Given the description of an element on the screen output the (x, y) to click on. 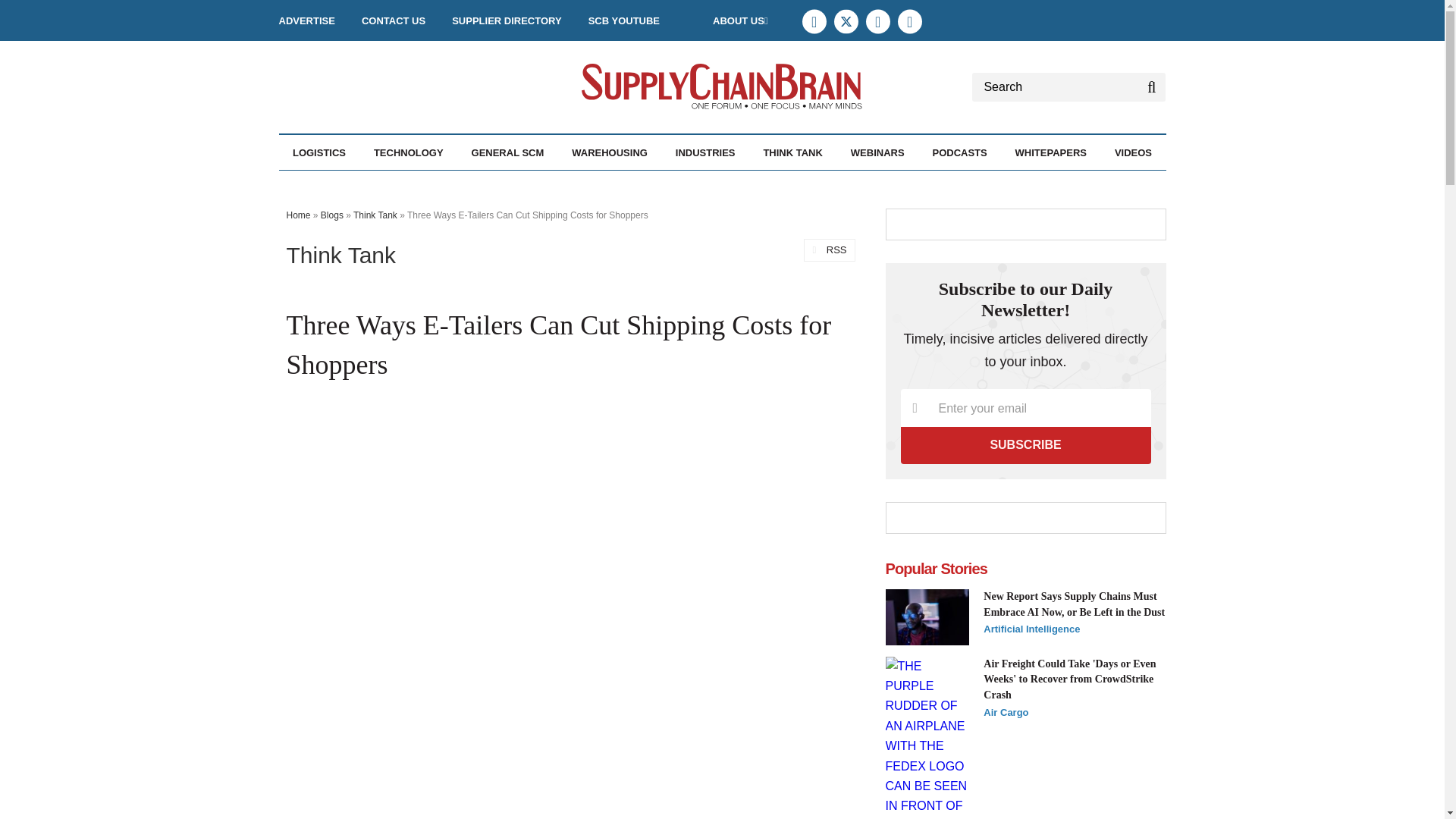
Ocean Transportation (407, 184)
Service Parts Management (413, 193)
ABOUT US (740, 20)
ADVERTISE (306, 20)
All Logistics (375, 184)
LOGISTICS (319, 152)
CONTACT US (393, 20)
Logistics Outsourcing (404, 184)
TECHNOLOGY (409, 152)
Global Logistics (398, 184)
Global Gateways (395, 184)
Subscribe (1026, 444)
Artificial Intelligence (456, 184)
Facility Location Planning (381, 193)
Air Cargo (368, 184)
